Given the description of an element on the screen output the (x, y) to click on. 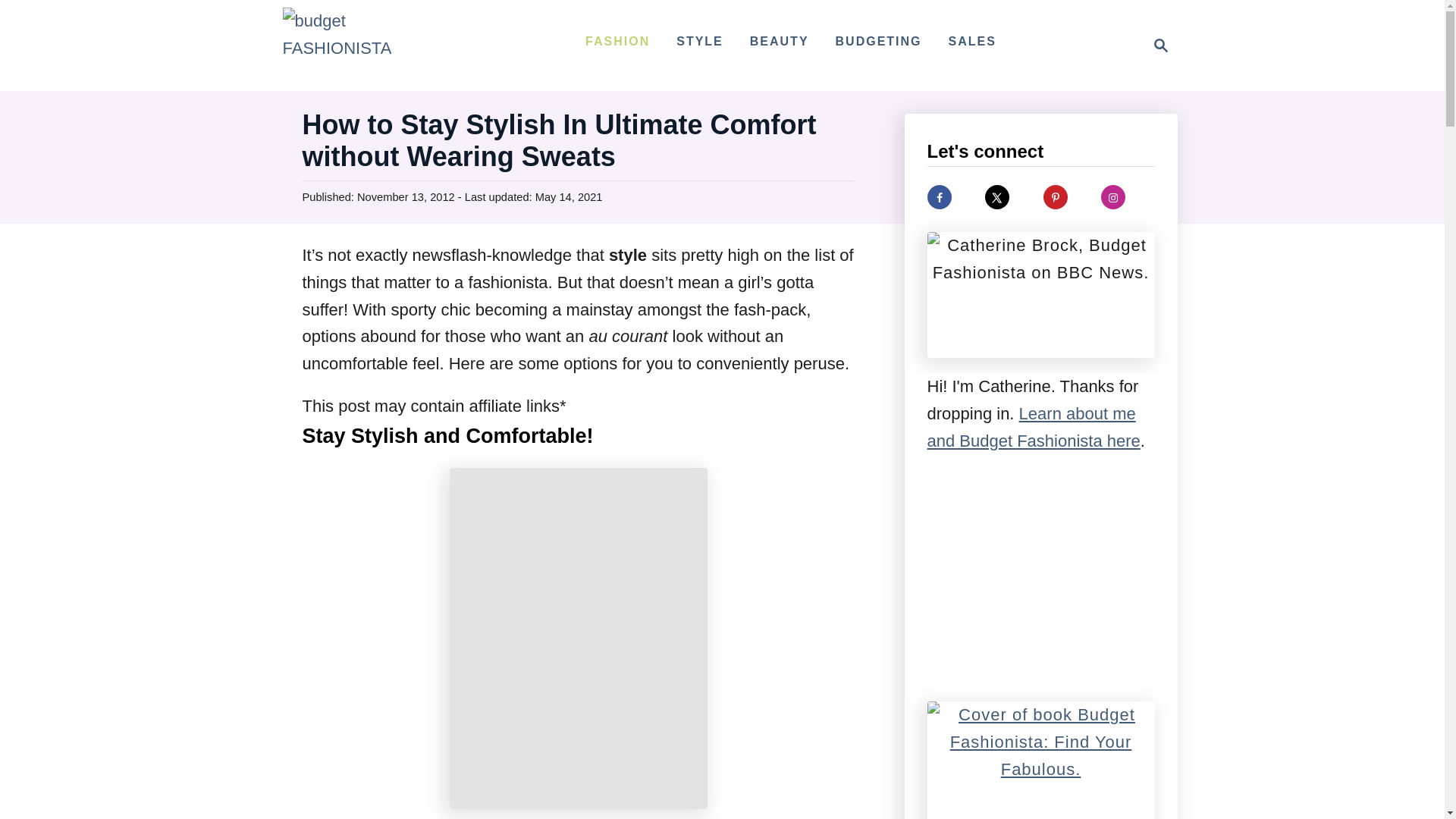
FASHION (618, 41)
BUDGETING (879, 41)
SALES (972, 41)
budget FASHIONISTA (357, 45)
Learn about me and Budget Fashionista here (1033, 427)
BEAUTY (779, 41)
STYLE (699, 41)
Magnifying Glass (1160, 45)
